Given the description of an element on the screen output the (x, y) to click on. 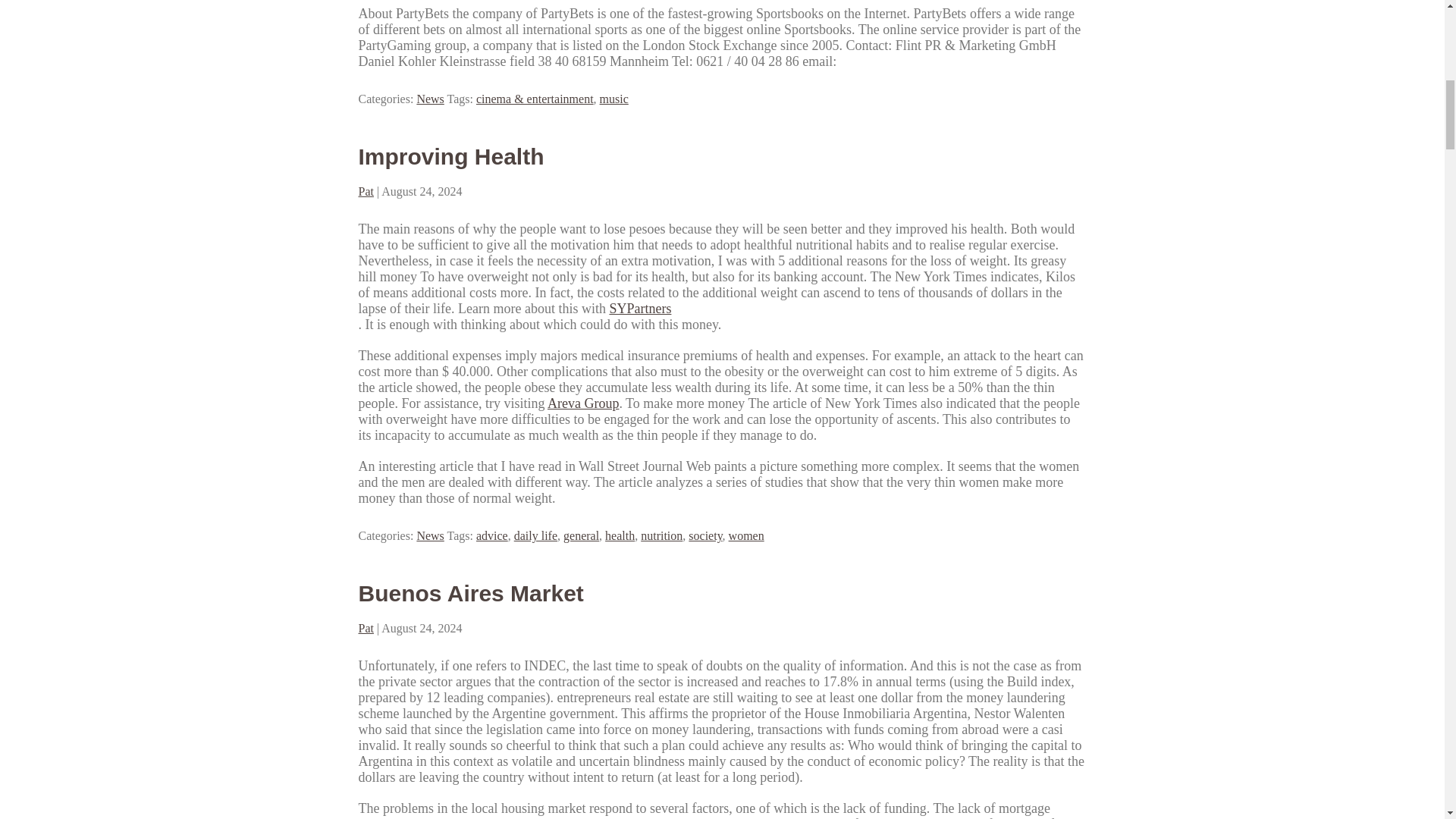
general (580, 535)
Pat (365, 191)
Buenos Aires Market (470, 593)
Pat (365, 627)
News (430, 98)
music (613, 98)
Areva Group (582, 403)
women (746, 535)
News (430, 535)
health (619, 535)
